Given the description of an element on the screen output the (x, y) to click on. 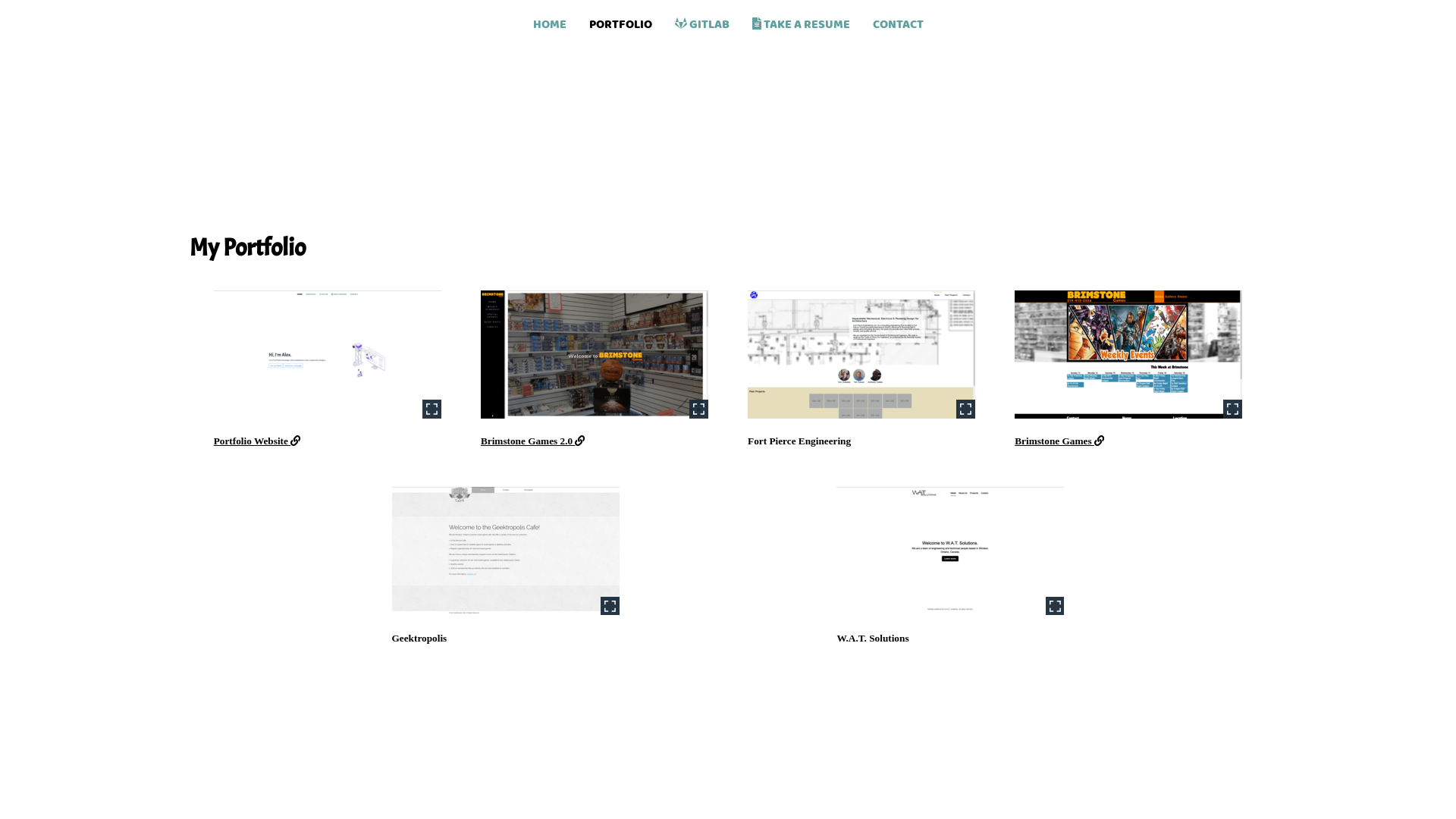
TAKE A RESUME Element type: text (800, 19)
Brimstone Games 2.0 Element type: text (532, 440)
Portfolio Website Element type: text (256, 440)
HOME Element type: text (549, 19)
CONTACT Element type: text (898, 19)
GITLAB Element type: text (701, 19)
Brimstone Games Element type: text (1059, 440)
PORTFOLIO Element type: text (620, 19)
